Given the description of an element on the screen output the (x, y) to click on. 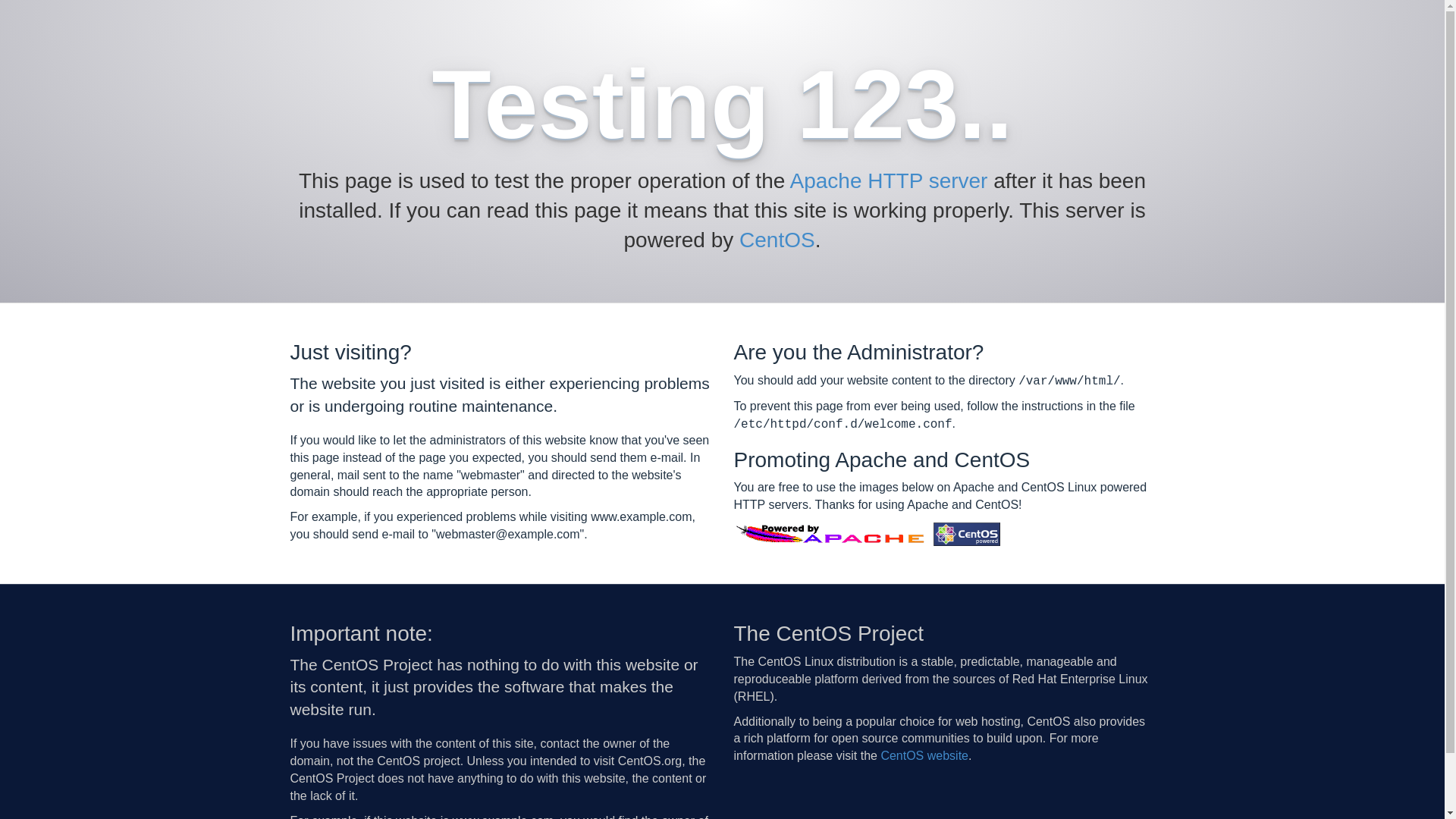
CentOS website Element type: text (924, 755)
Apache HTTP server Element type: text (889, 180)
CentOS Element type: text (777, 239)
